Given the description of an element on the screen output the (x, y) to click on. 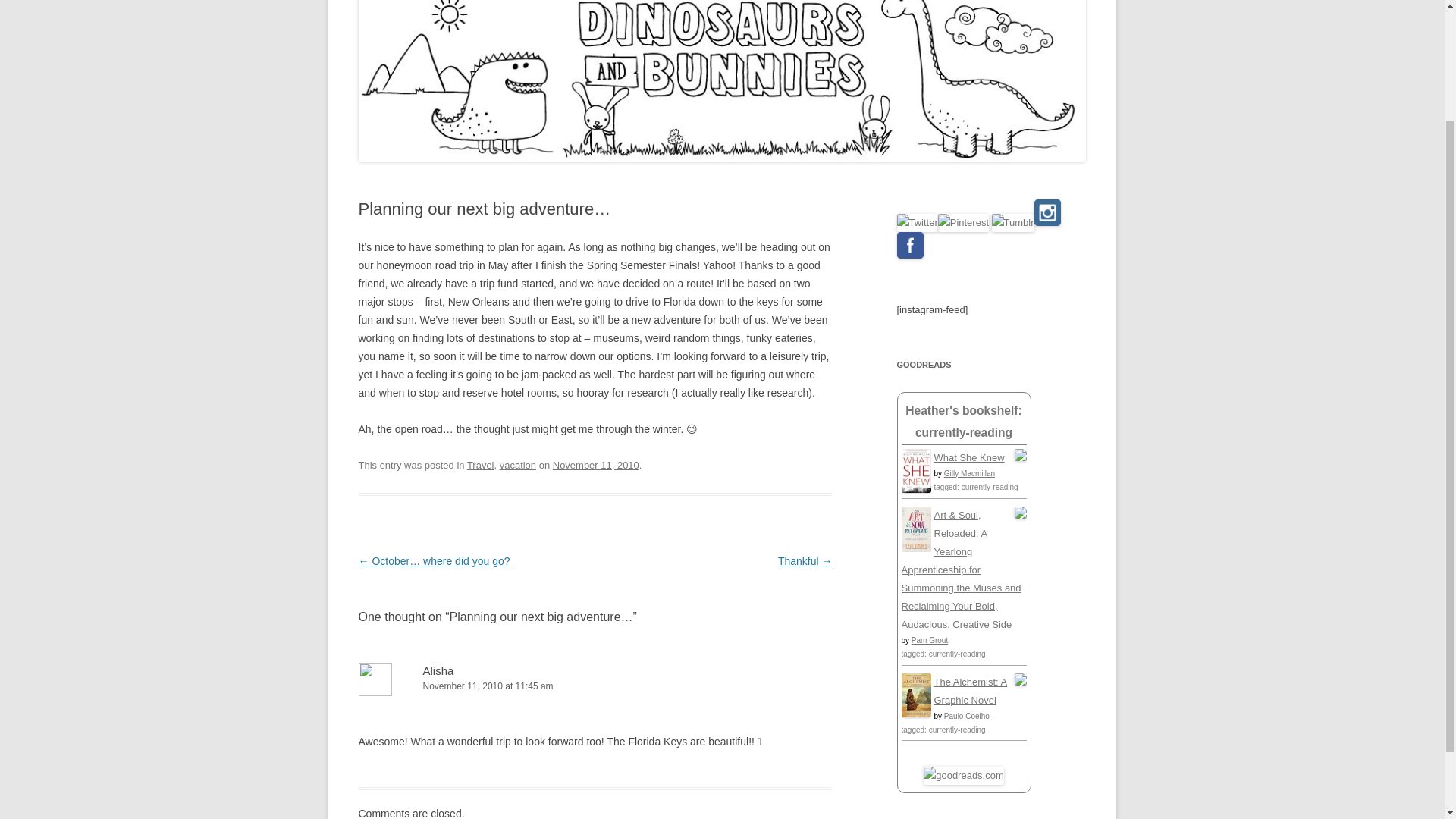
Instagram (1047, 212)
November 11, 2010 (596, 464)
Paulo Coelho (966, 715)
The Alchemist: A Graphic Novel (970, 690)
Travel (481, 464)
Gilly Macmillan (968, 473)
What She Knew (969, 457)
vacation (517, 464)
The Alchemist: A Graphic Novel (915, 713)
Facebook (909, 244)
